Given the description of an element on the screen output the (x, y) to click on. 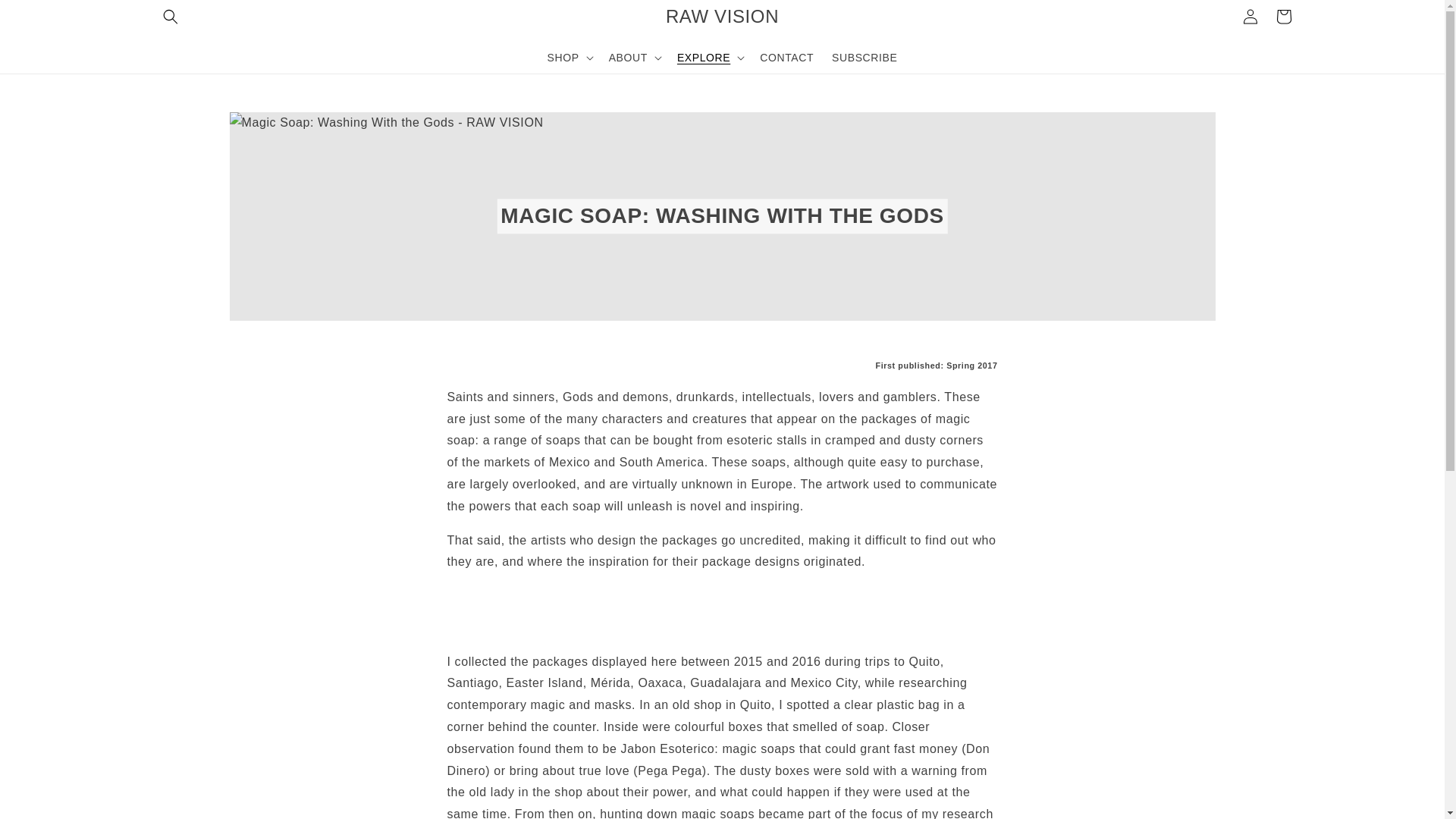
RAW VISION (721, 16)
SKIP TO CONTENT (45, 17)
